Given the description of an element on the screen output the (x, y) to click on. 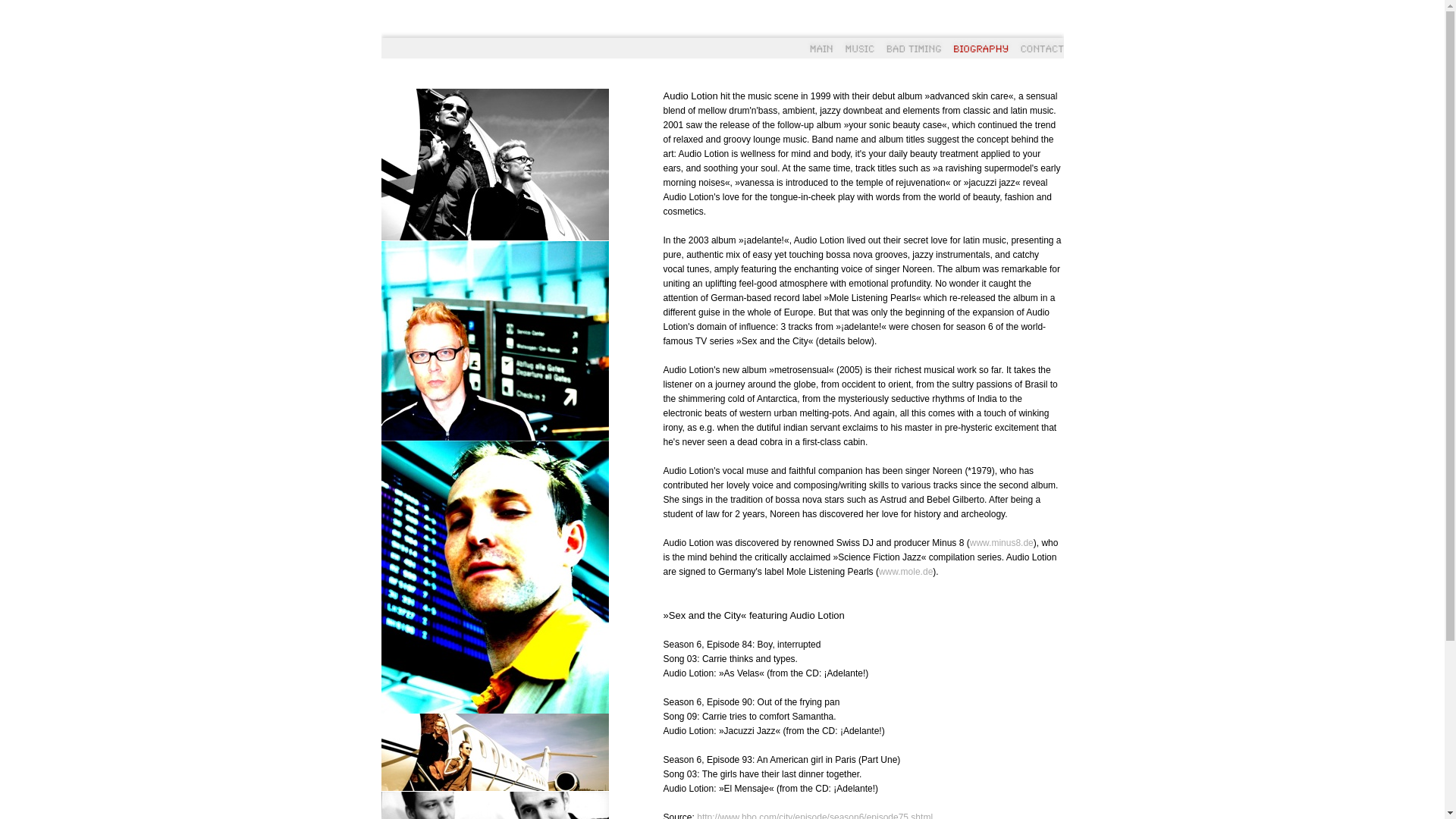
www.mole.de Element type: text (905, 571)
www.minus8.de Element type: text (1001, 542)
